Given the description of an element on the screen output the (x, y) to click on. 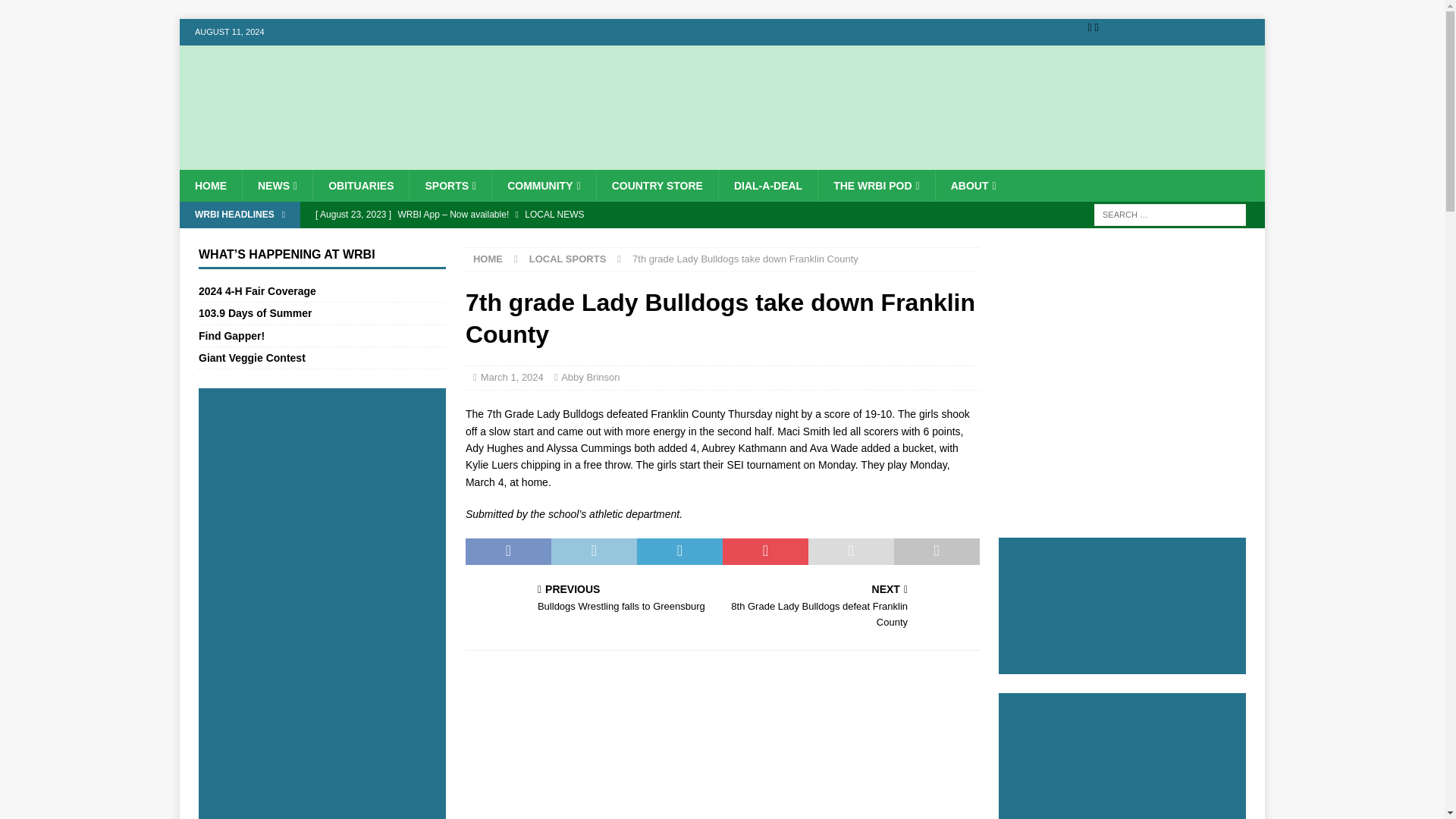
SPORTS (450, 185)
DIAL-A-DEAL (766, 185)
OBITUARIES (361, 185)
NEWS (277, 185)
COUNTRY STORE (656, 185)
WRBI Sports Saturday, August 10, 2024 (597, 240)
HOME (210, 185)
COMMUNITY (543, 185)
THE WRBI POD (875, 185)
